Given the description of an element on the screen output the (x, y) to click on. 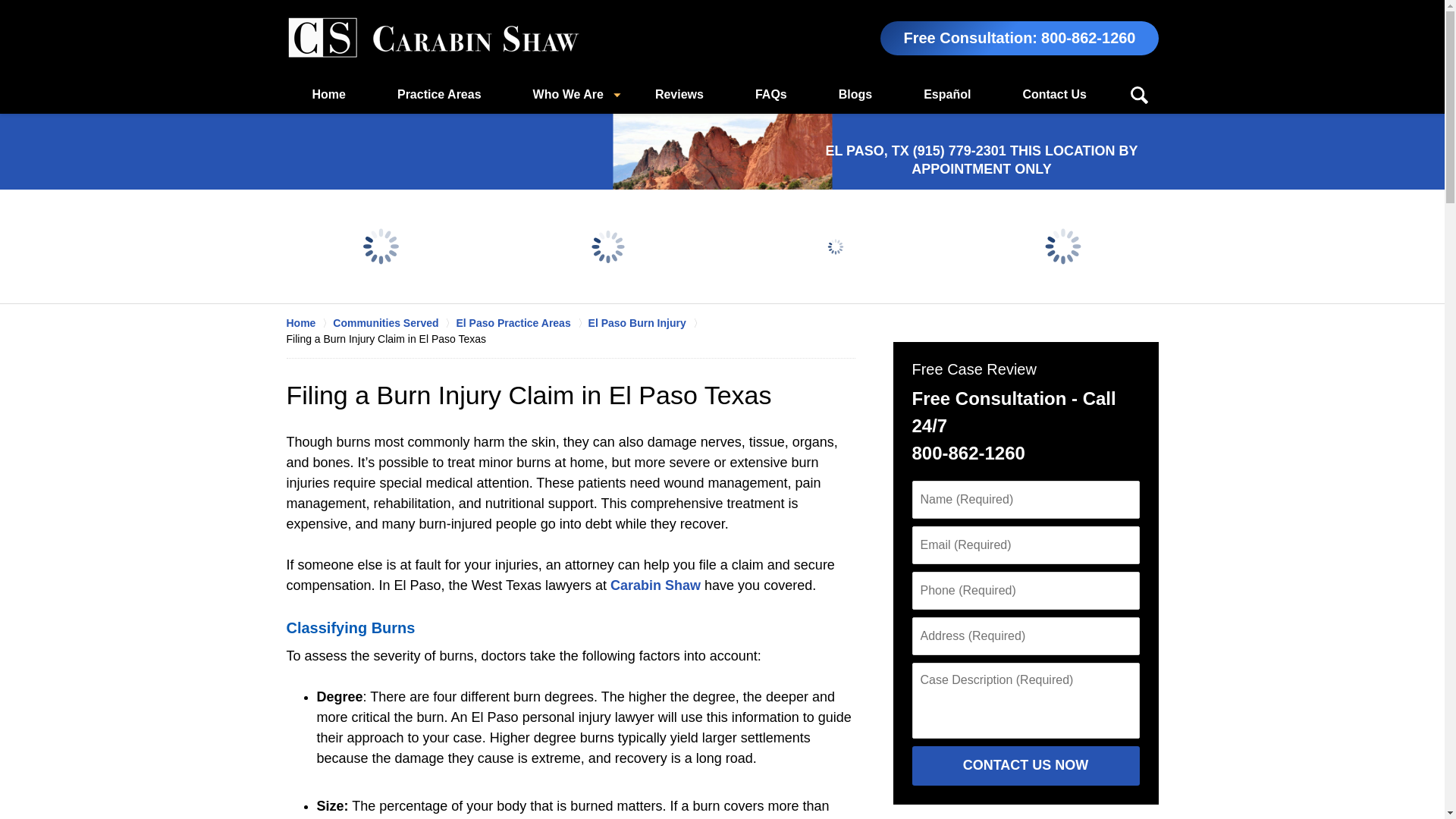
Carabin Shaw (655, 585)
El Paso County Accident Lawyers Carabin Shaw Home (432, 37)
Communities Served (394, 323)
El Paso Burn Injury (645, 323)
FAQs (770, 94)
Who We Are (567, 94)
CONTACT US NOW (1024, 765)
Free Consultation: 800-862-1260 (1018, 38)
Home (309, 323)
Home (328, 94)
